Given the description of an element on the screen output the (x, y) to click on. 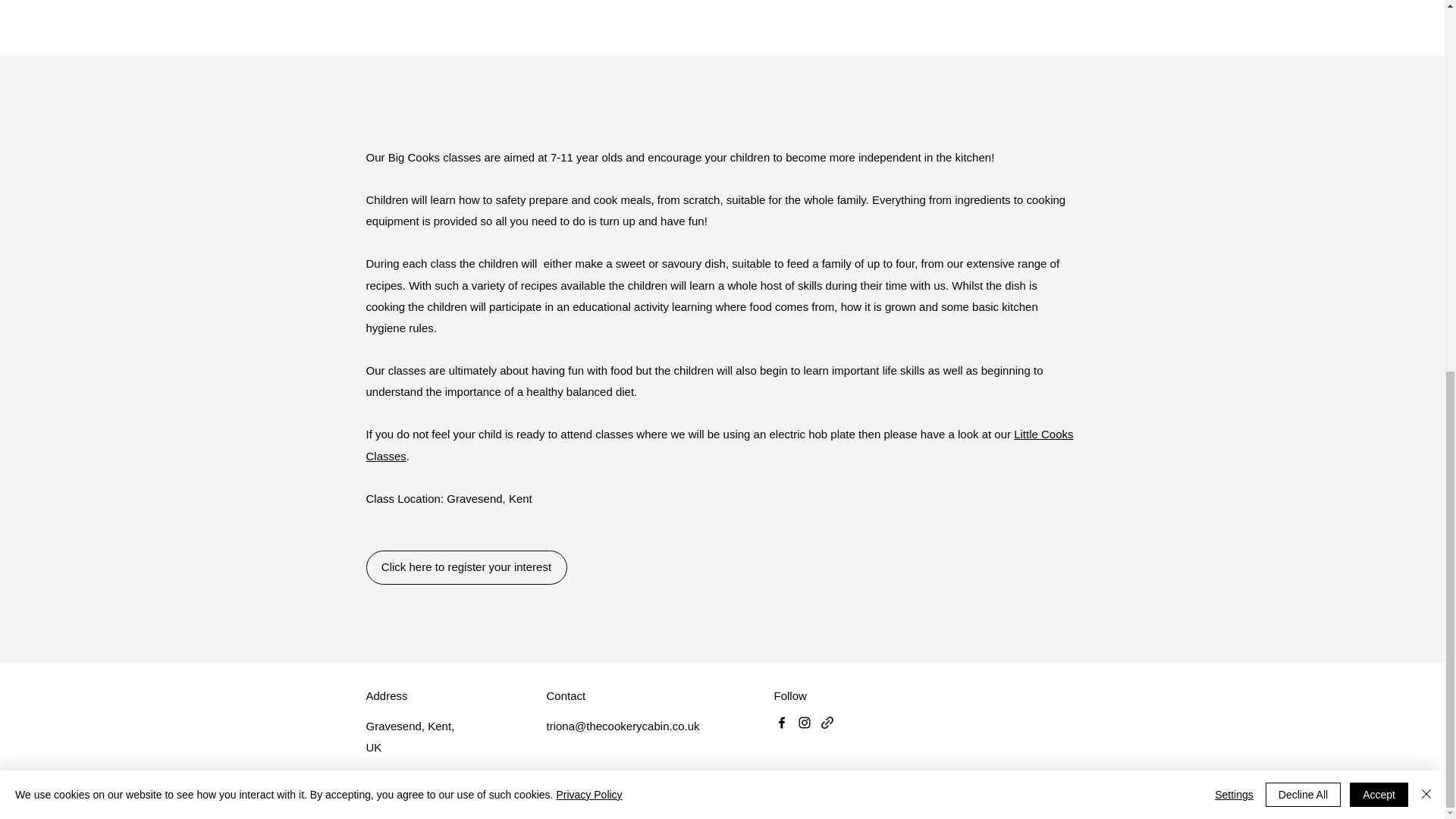
Click here to register your interest (465, 567)
Accept (1378, 117)
Privacy Policy (588, 117)
Little Cooks Classes (719, 444)
Decline All (1302, 117)
